Given the description of an element on the screen output the (x, y) to click on. 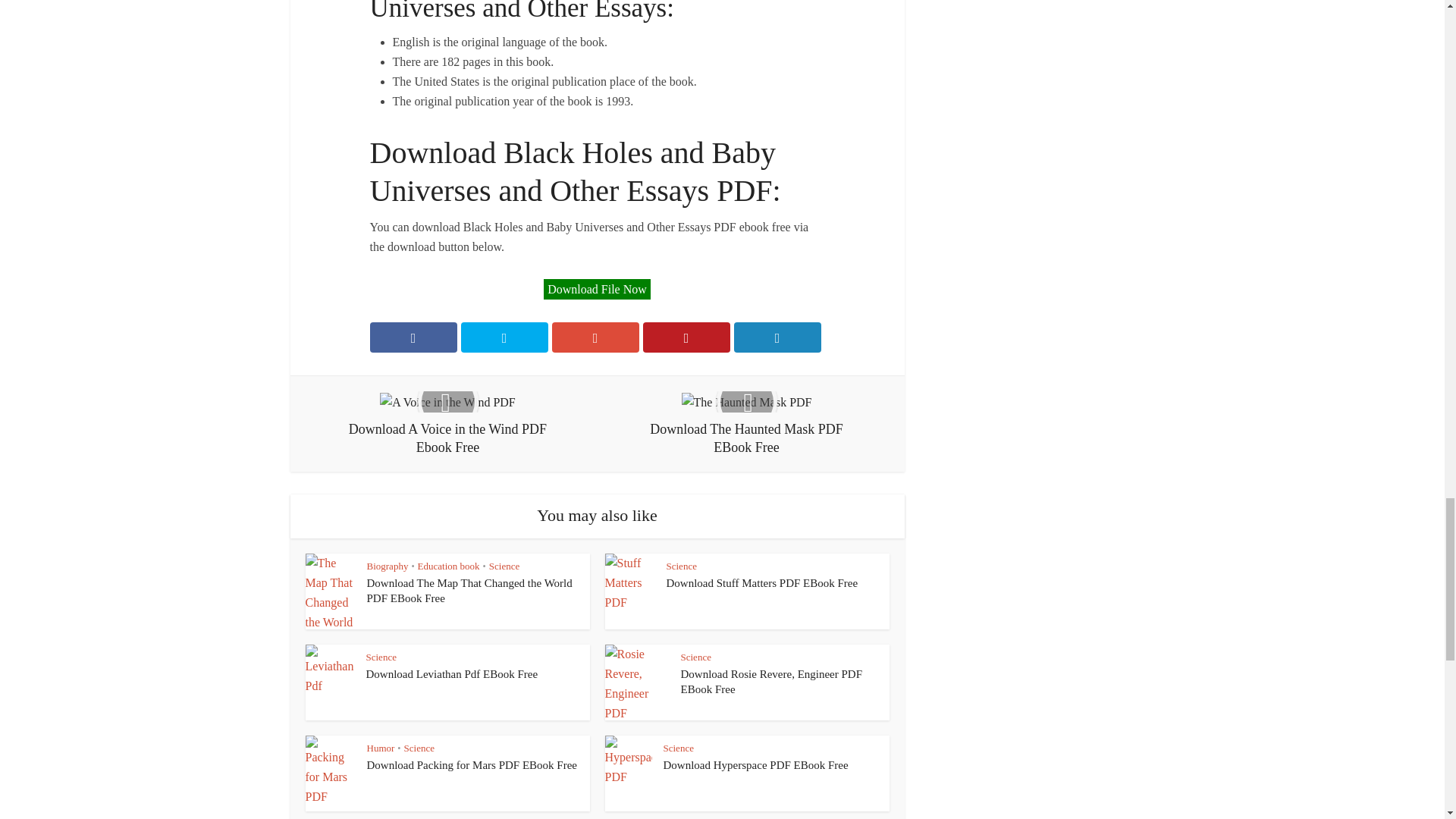
Science (504, 565)
Download The Map That Changed the World PDF EBook Free (469, 590)
Biography (387, 565)
Download Rosie Revere, Engineer PDF EBook Free (772, 681)
Download A Voice in the Wind PDF Ebook Free (447, 423)
Download The Map That Changed the World PDF EBook Free (469, 590)
Download Hyperspace PDF EBook Free (754, 765)
Download Leviathan Pdf EBook Free (451, 674)
Science (680, 565)
Download Stuff Matters PDF EBook Free (761, 582)
